Given the description of an element on the screen output the (x, y) to click on. 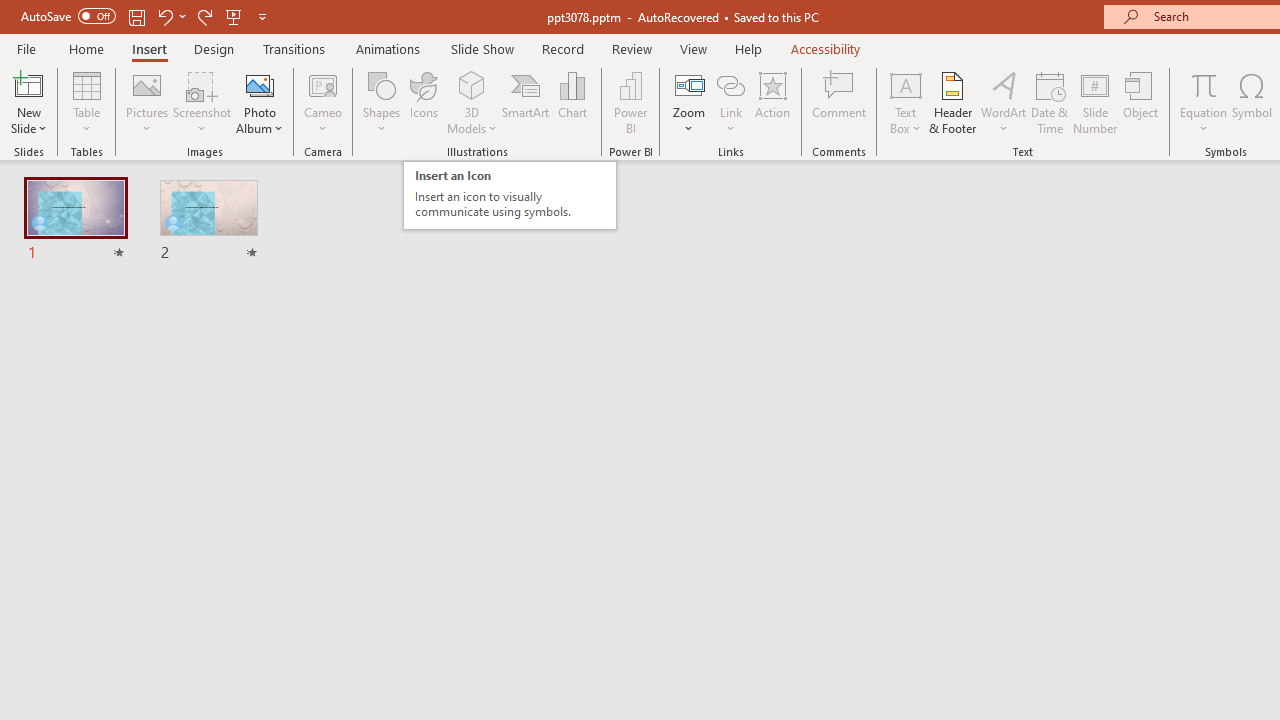
WordArt (1004, 102)
Link (731, 102)
Equation (1203, 84)
Object... (1141, 102)
Date & Time... (1050, 102)
Pictures (147, 102)
